Given the description of an element on the screen output the (x, y) to click on. 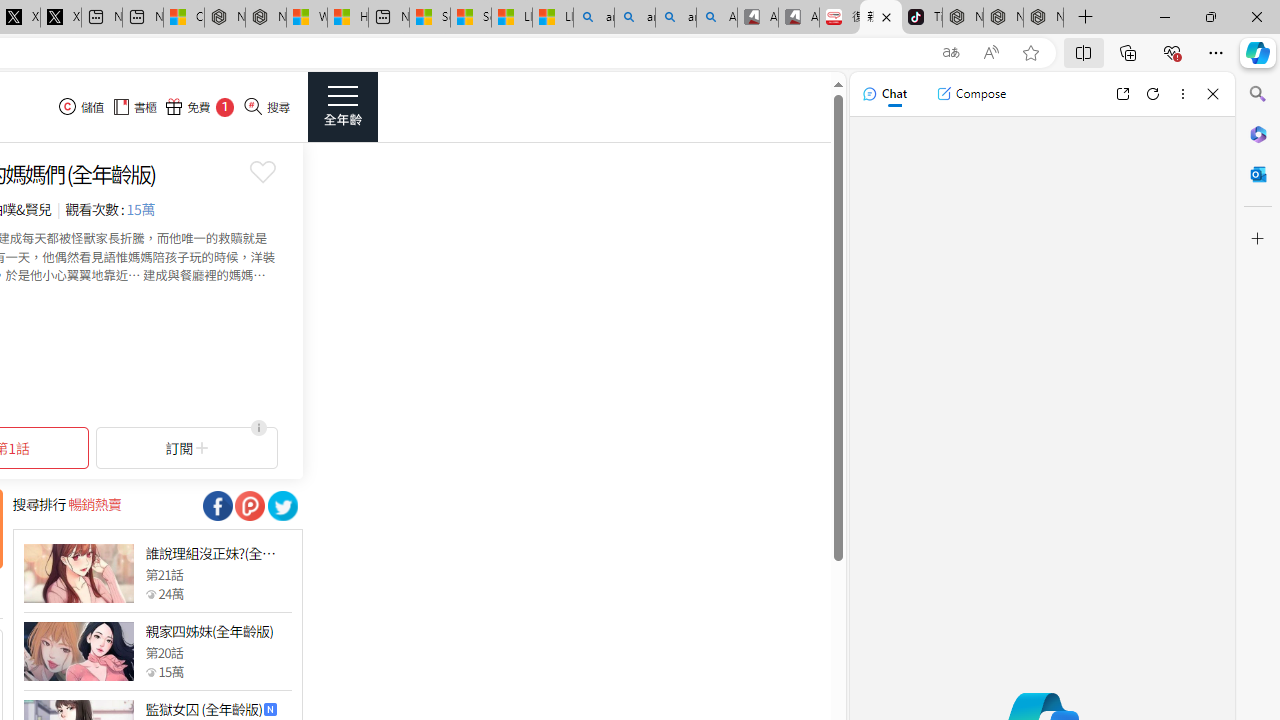
Class: socialShare (282, 506)
Nordace - Siena Pro 15 Essential Set (1043, 17)
Outlook (1258, 174)
Open link in new tab (1122, 93)
Customize (1258, 239)
Huge shark washes ashore at New York City beach | Watch (347, 17)
Chat (884, 93)
